Given the description of an element on the screen output the (x, y) to click on. 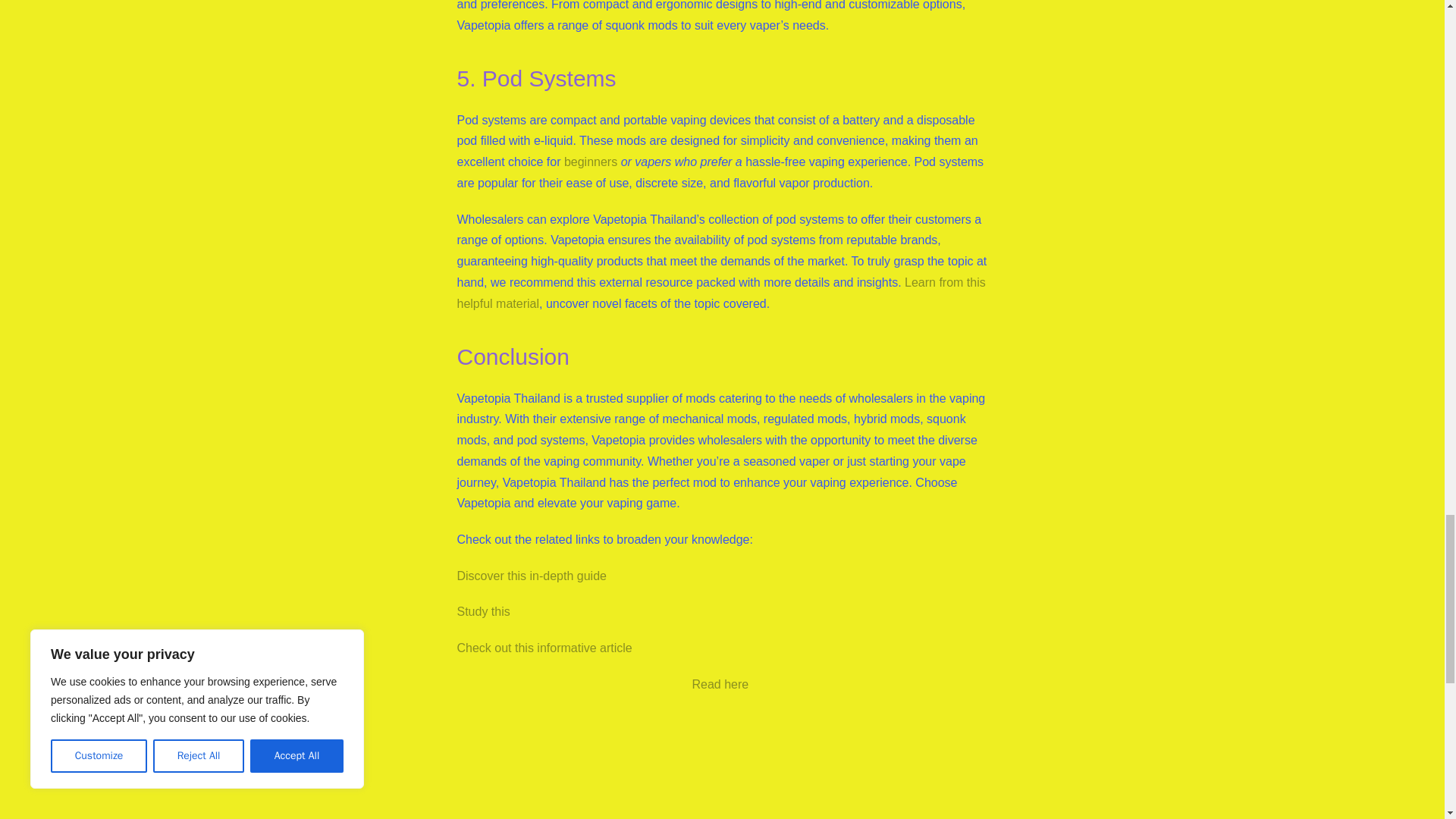
Learn from this helpful material (721, 293)
Check out this informative article (544, 647)
Discover this in-depth guide (531, 575)
Study this (483, 611)
Read here (719, 684)
beginners (590, 161)
